Given the description of an element on the screen output the (x, y) to click on. 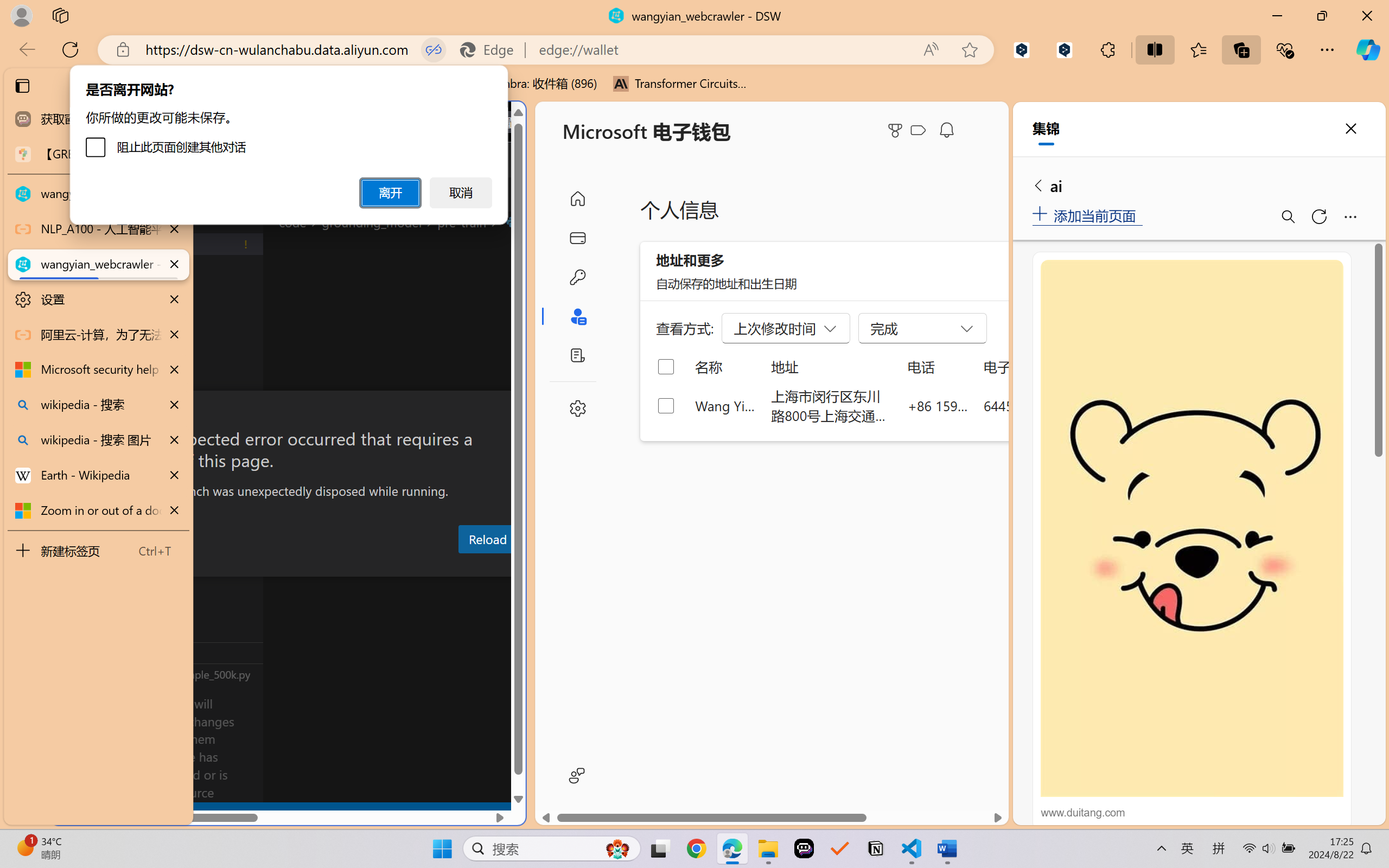
Debug Console (Ctrl+Shift+Y) (463, 565)
remote (66, 812)
Transformer Circuits Thread (680, 83)
